Given the description of an element on the screen output the (x, y) to click on. 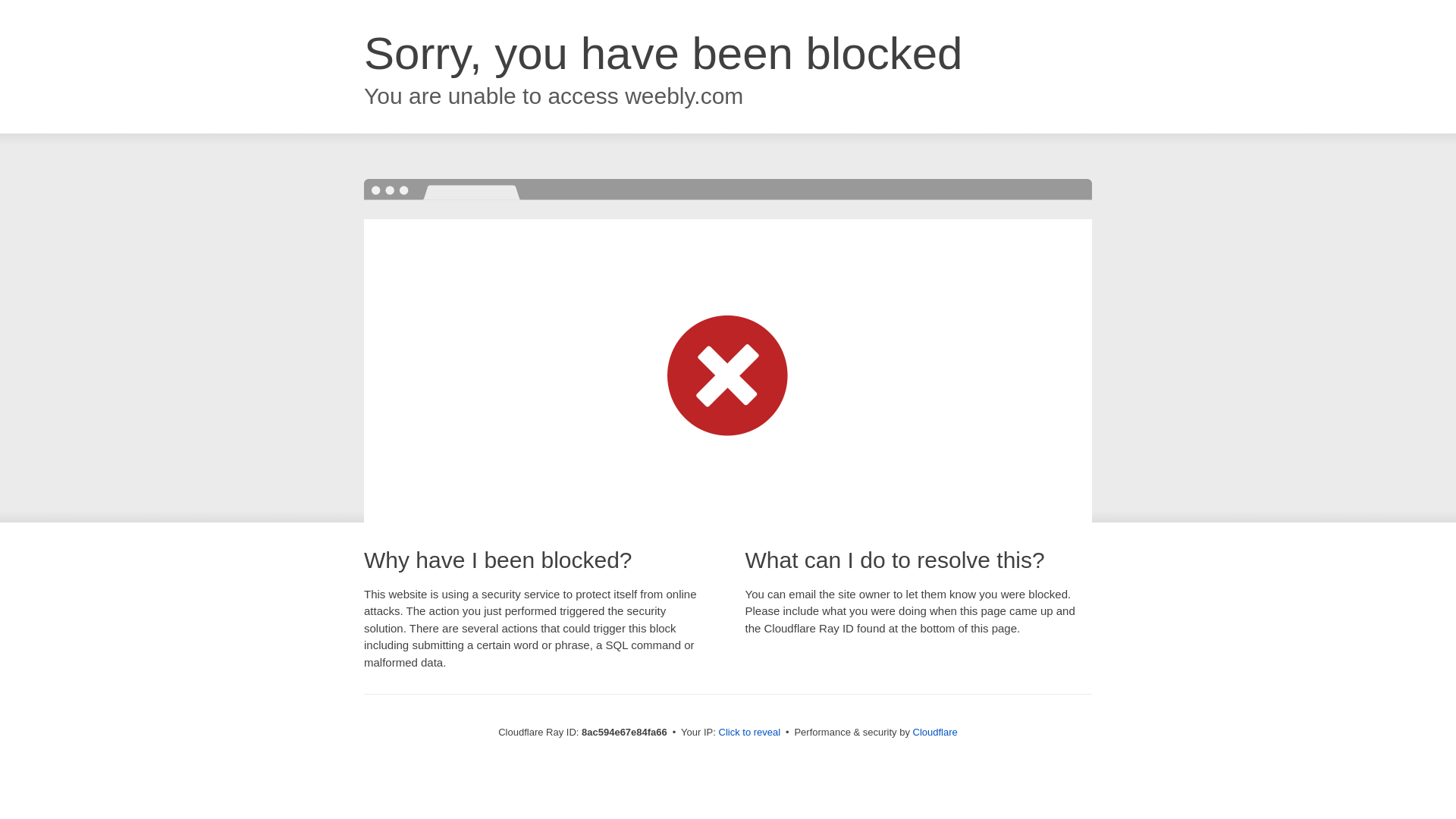
Click to reveal (749, 732)
Cloudflare (935, 731)
